Given the description of an element on the screen output the (x, y) to click on. 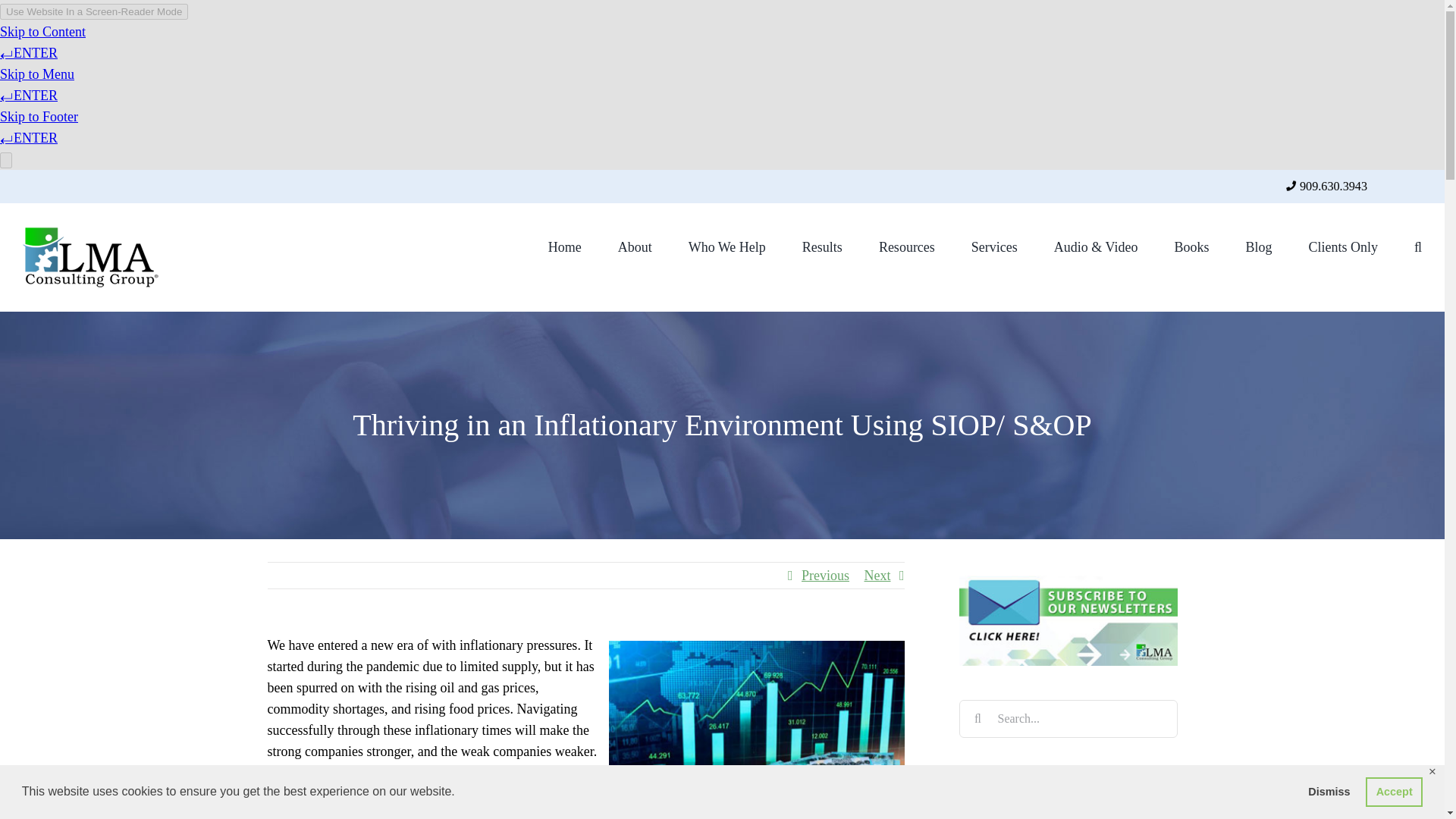
Accept (1393, 791)
Previous (825, 575)
Who We Help (726, 245)
Dismiss (1328, 791)
909.630.3943 (1333, 186)
Next (877, 575)
